Given the description of an element on the screen output the (x, y) to click on. 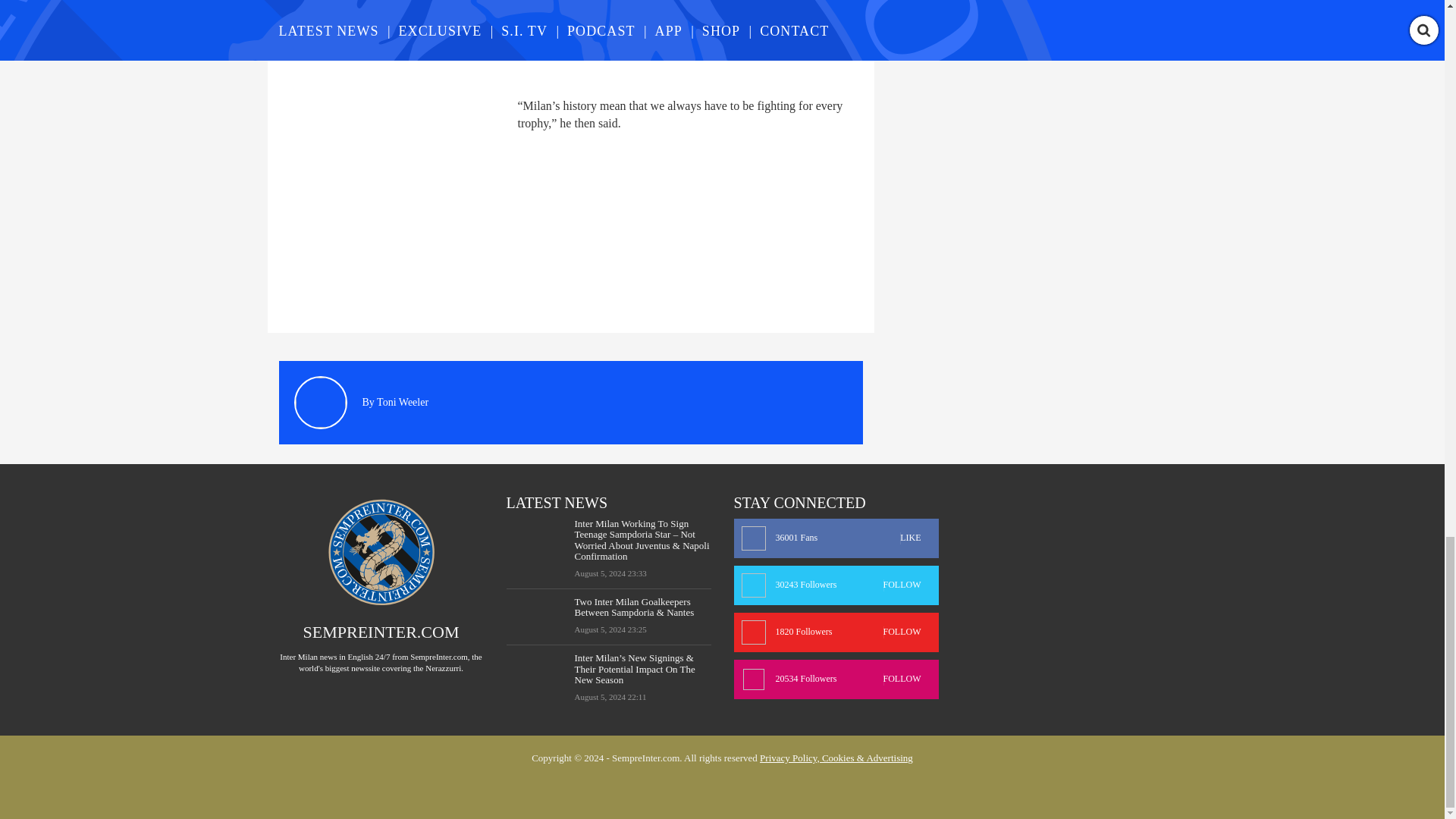
Toni Weeler (402, 401)
View more articles by Toni Weeler (402, 401)
YouTube video player (491, 40)
SEMPREINTER.COM (381, 631)
